Given the description of an element on the screen output the (x, y) to click on. 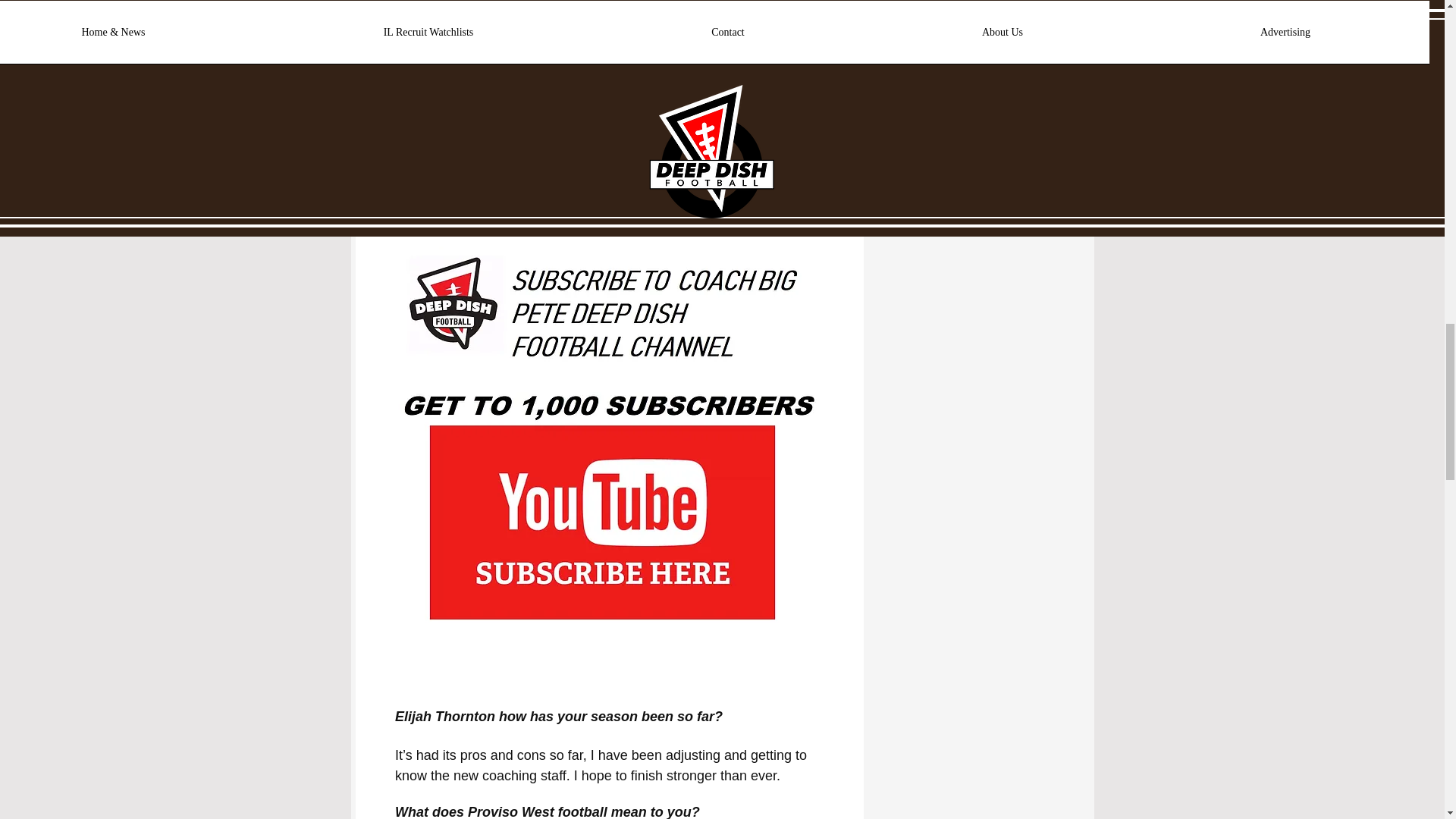
TWITTER (424, 3)
